Given the description of an element on the screen output the (x, y) to click on. 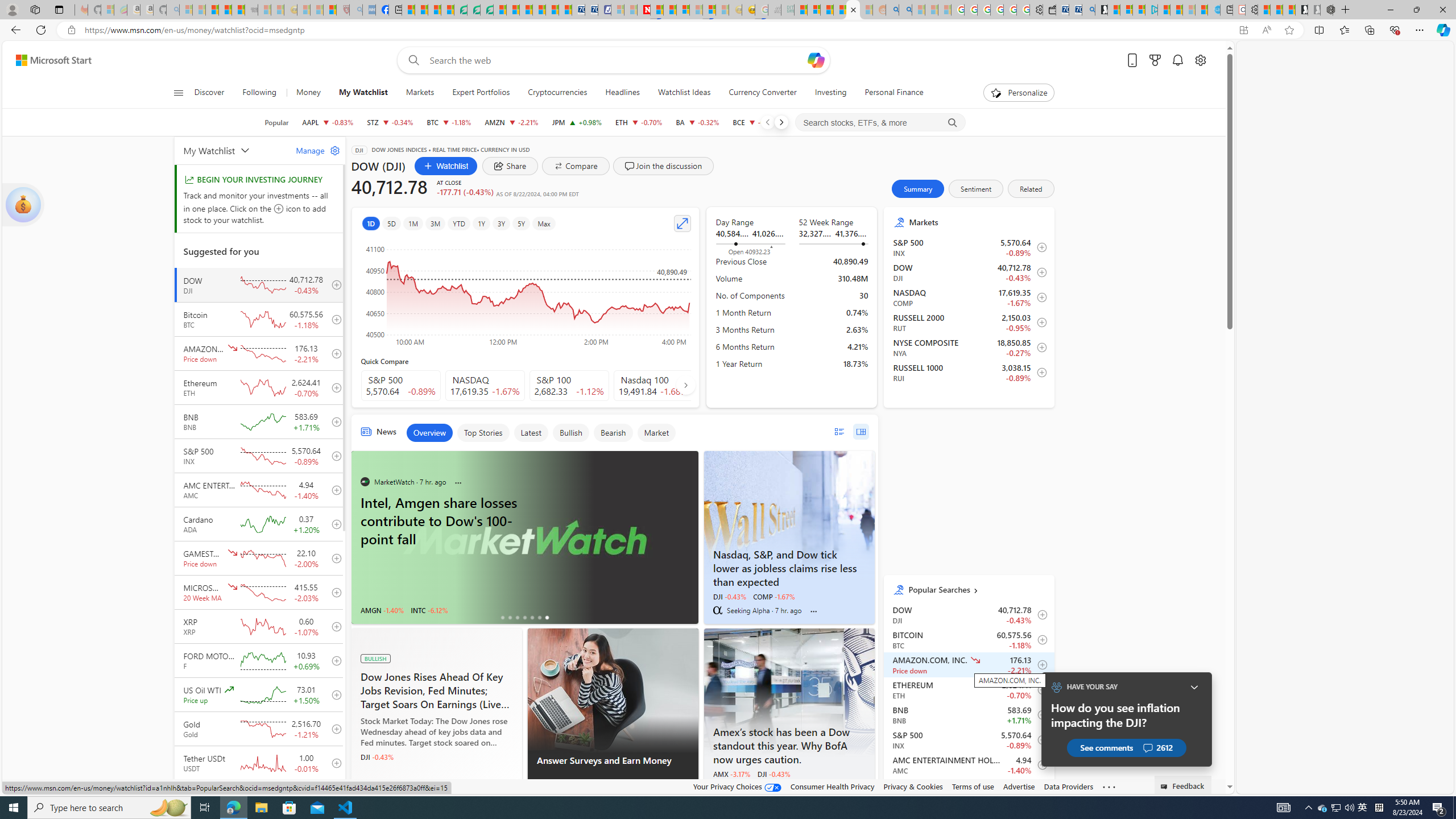
Expert Portfolios (480, 92)
Sentiment (976, 188)
Investor's Business Daily (364, 786)
Class: button-glyph (178, 92)
BCE BCE Inc decrease 34.55 -0.07 -0.20% (755, 122)
Expert Portfolios (480, 92)
DITOGAMES AG Imprint - Sleeping (787, 9)
INX S&P 500 decrease 5,570.64 -50.21 -0.89% itemundefined (968, 739)
Cheap Car Rentals - Save70.com (1075, 9)
1M (413, 223)
